Given the description of an element on the screen output the (x, y) to click on. 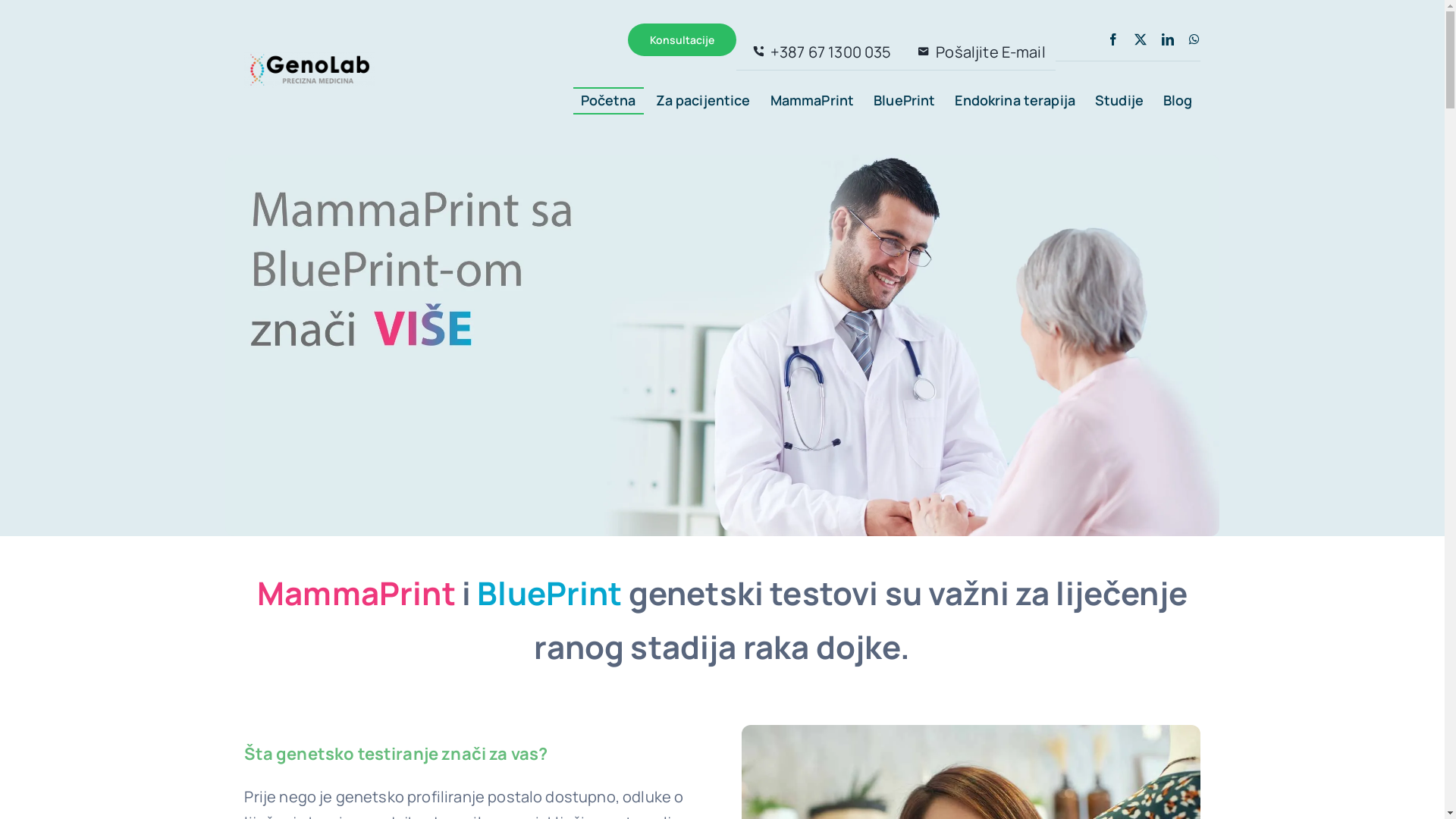
Za pacijentice Element type: text (703, 101)
Endokrina terapija Element type: text (1014, 101)
MammaPrint Element type: text (811, 101)
Konsultacije Element type: text (681, 39)
Blog Element type: text (1177, 101)
+387 67 1300 035 Element type: text (818, 51)
Studije Element type: text (1119, 101)
Speaking with patient Element type: hover (721, 345)
BluePrint Element type: text (904, 101)
